Given the description of an element on the screen output the (x, y) to click on. 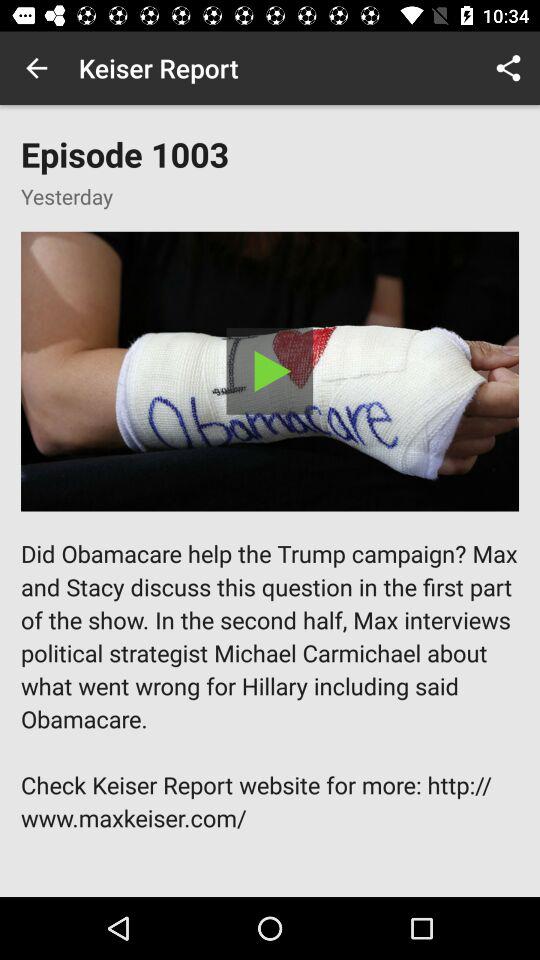
play video (270, 371)
